Given the description of an element on the screen output the (x, y) to click on. 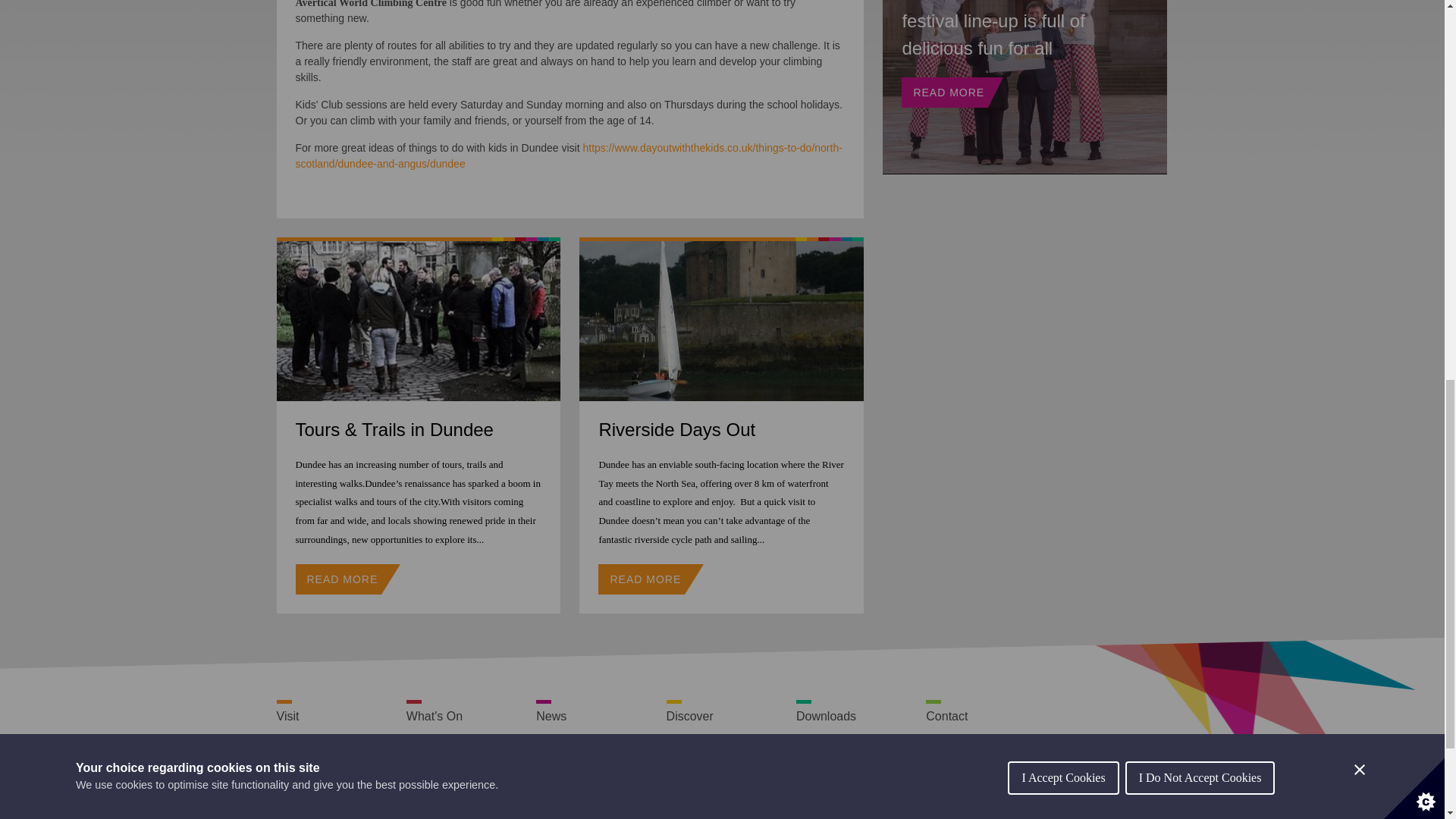
Days out with the Kids (569, 155)
Dundee Food Festival (1024, 86)
I Accept Cookies (1062, 5)
